Given the description of an element on the screen output the (x, y) to click on. 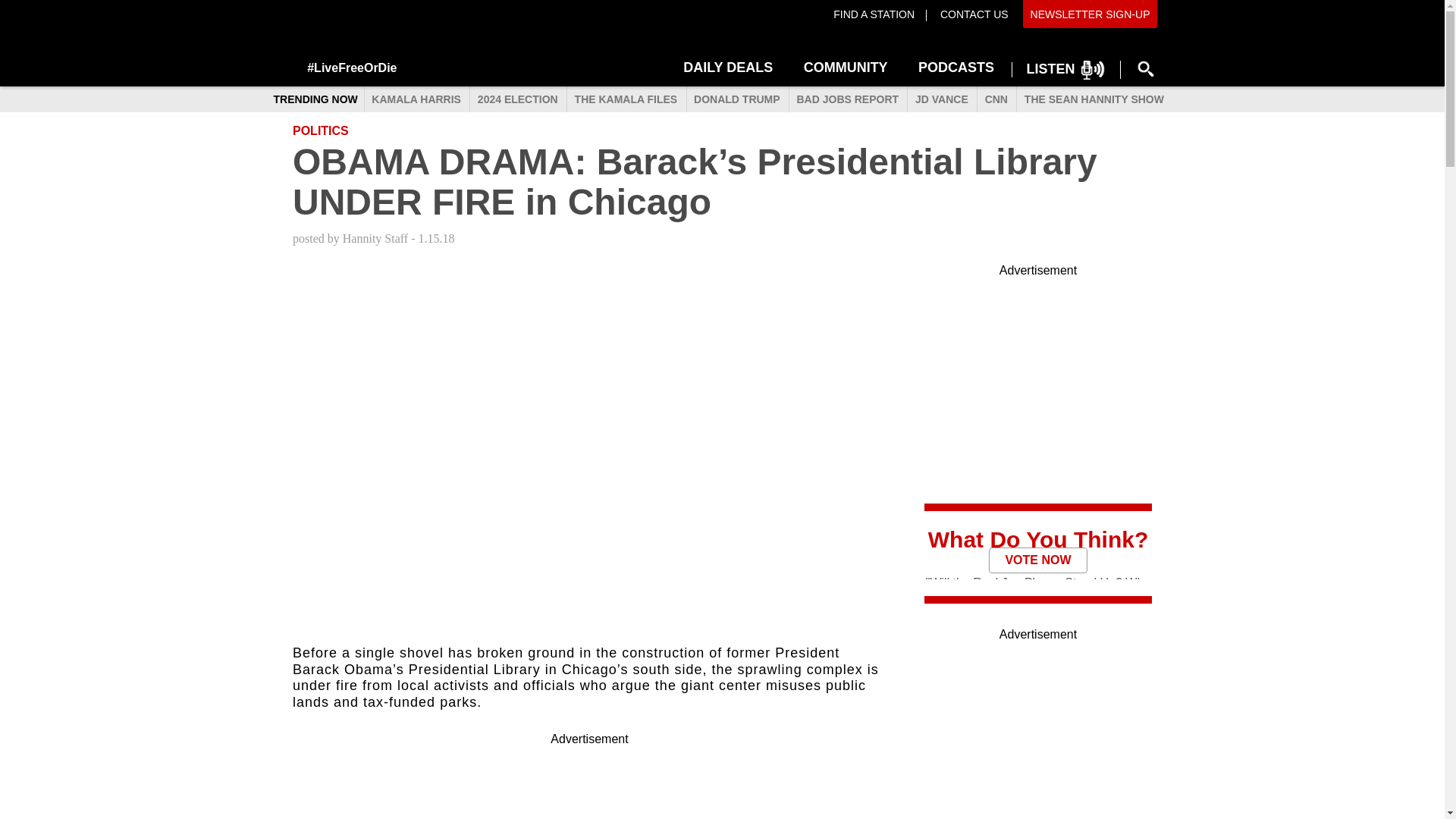
CONTACT US (972, 14)
DONALD TRUMP (736, 99)
POLITICS (320, 130)
2024 ELECTION (516, 99)
PODCASTS (955, 65)
NEWSLETTER SIGN-UP (1090, 14)
CNN (995, 99)
JD VANCE (941, 99)
COMMUNITY (845, 65)
FIND A STATION (874, 14)
